Given the description of an element on the screen output the (x, y) to click on. 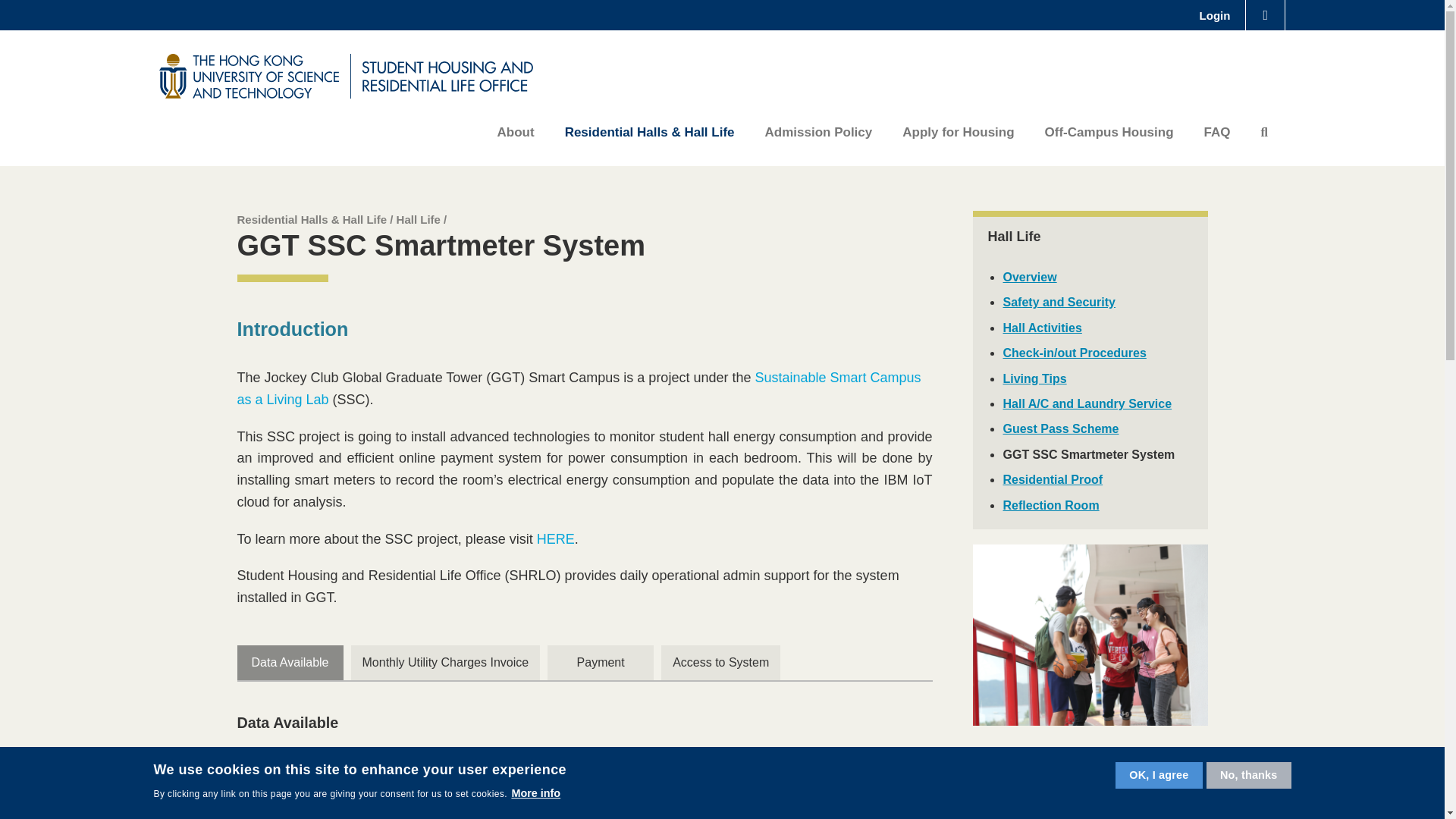
Login (1214, 15)
HKUST (248, 75)
About (515, 132)
